Given the description of an element on the screen output the (x, y) to click on. 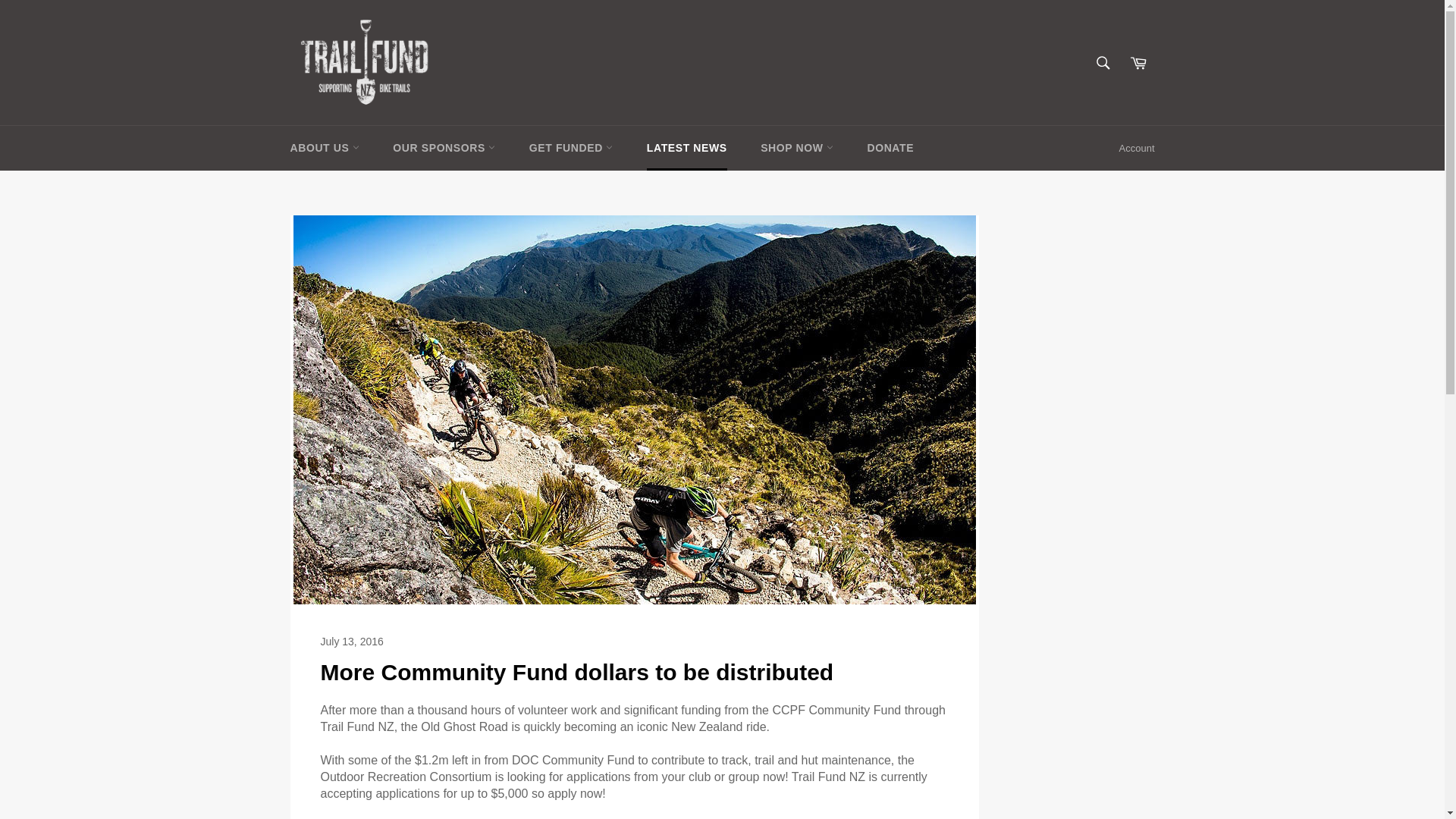
Search (1103, 62)
Cart (1138, 62)
ABOUT US (324, 148)
